Given the description of an element on the screen output the (x, y) to click on. 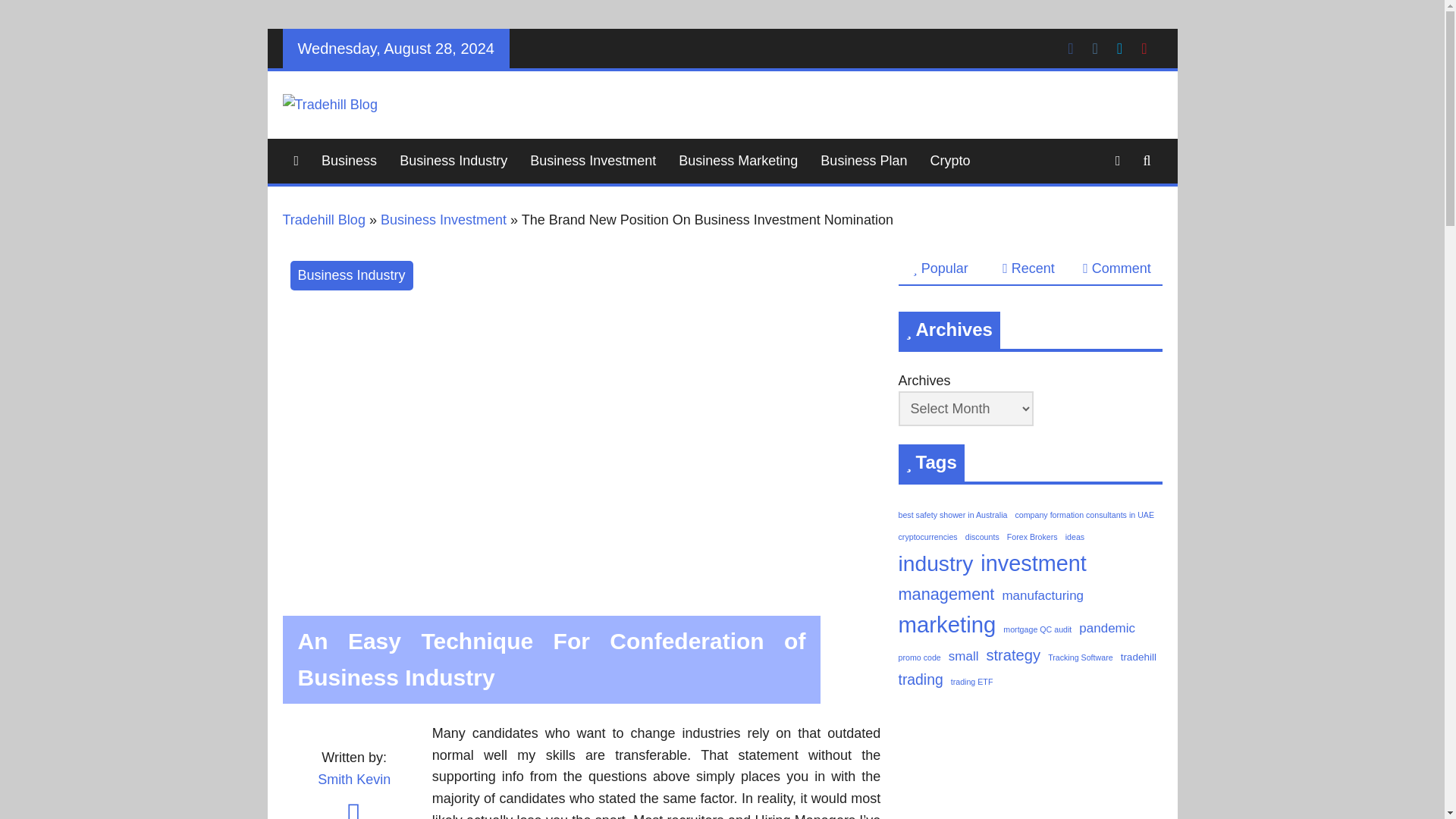
Crypto (949, 160)
Business Investment (443, 219)
Instagram (1094, 47)
Tradehill Blog (323, 219)
Business (349, 160)
Smith Kevin (353, 779)
Popular (940, 268)
Twitter (1119, 47)
Facebook (1069, 47)
